Given the description of an element on the screen output the (x, y) to click on. 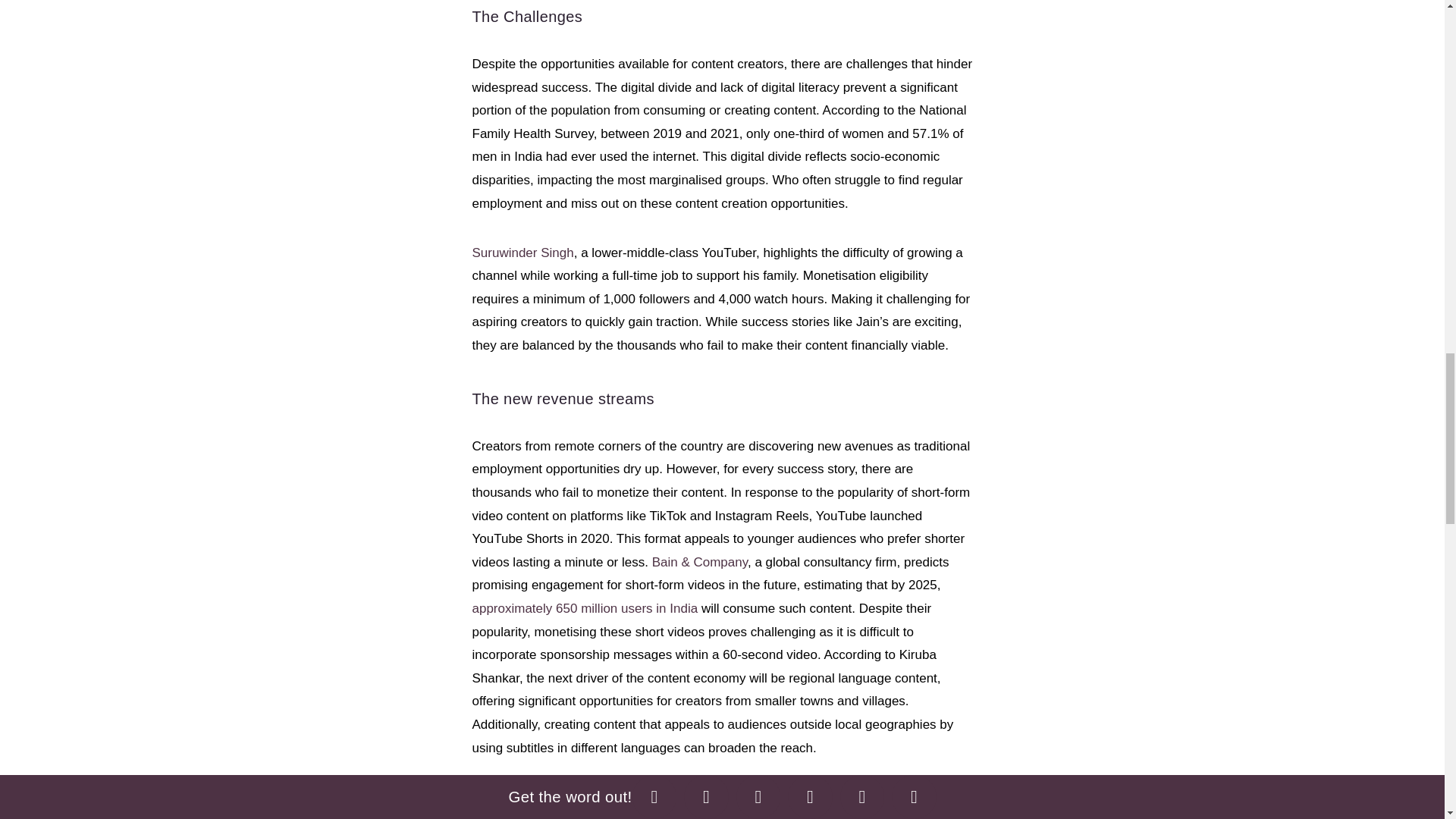
Suruwinder Singh (522, 252)
approximately 650 million users in India (584, 608)
